Given the description of an element on the screen output the (x, y) to click on. 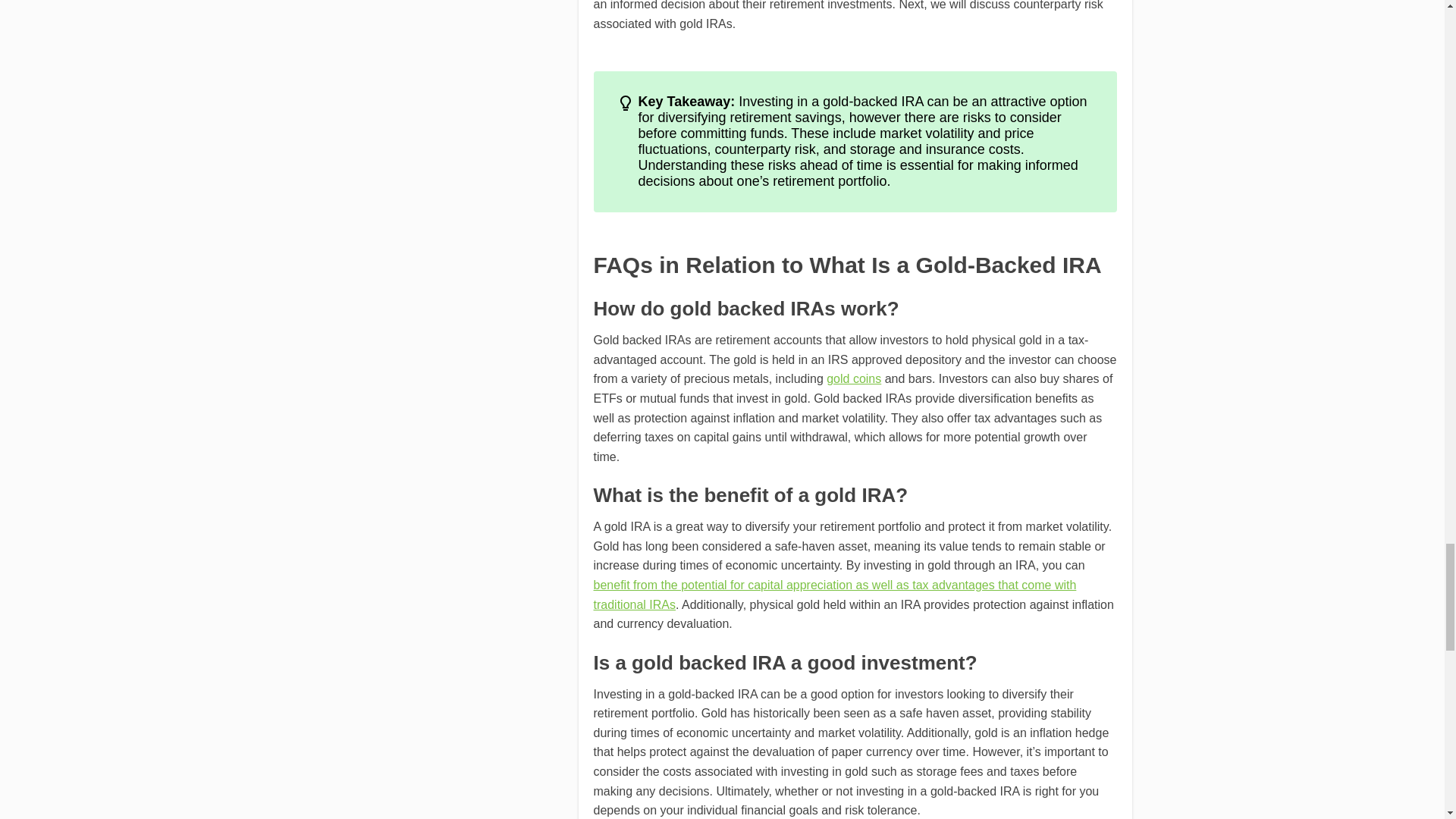
gold coins (853, 378)
Gold Coins (853, 378)
